Given the description of an element on the screen output the (x, y) to click on. 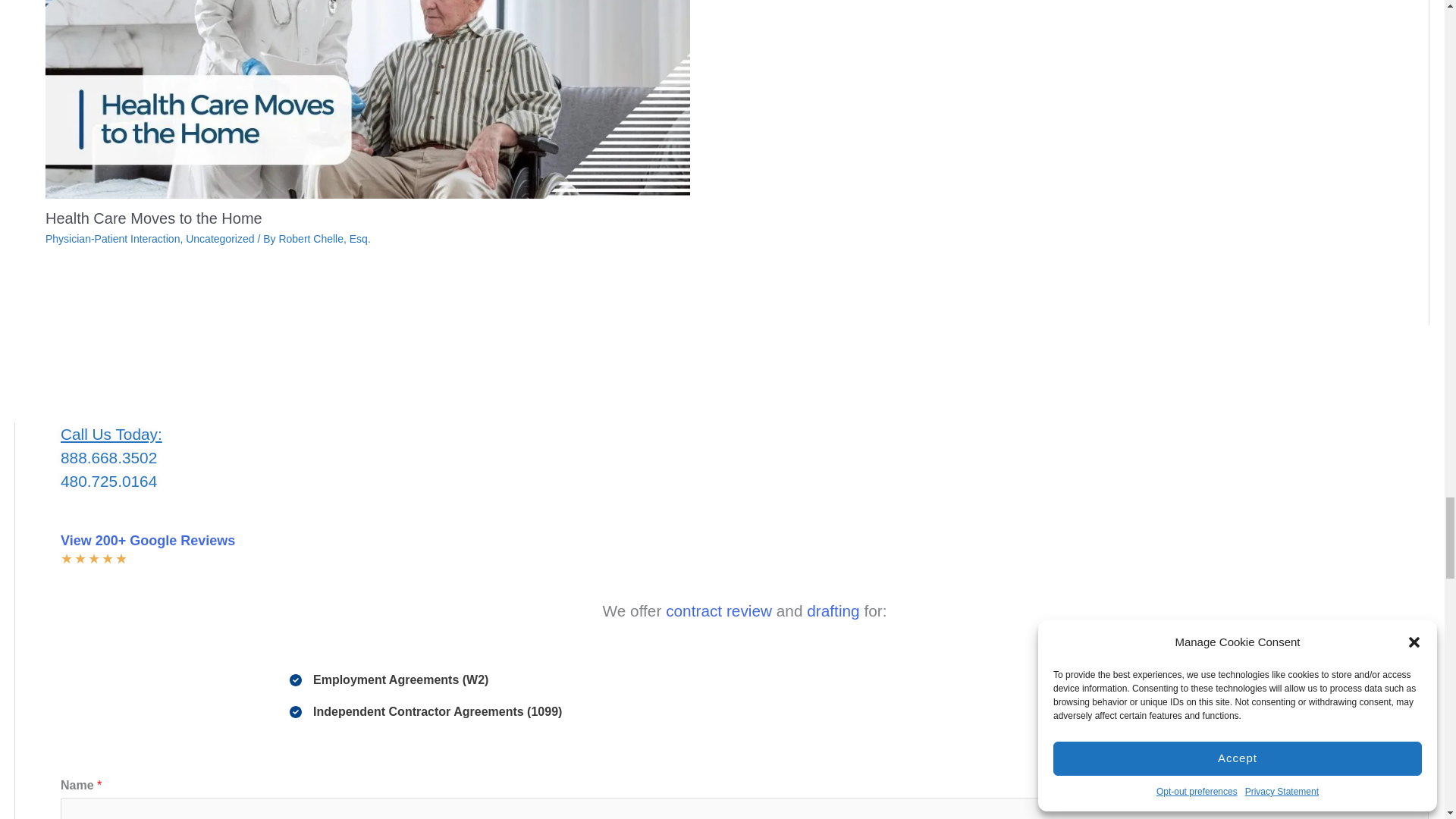
View all posts by Robert Chelle, Esq. (323, 238)
